Given the description of an element on the screen output the (x, y) to click on. 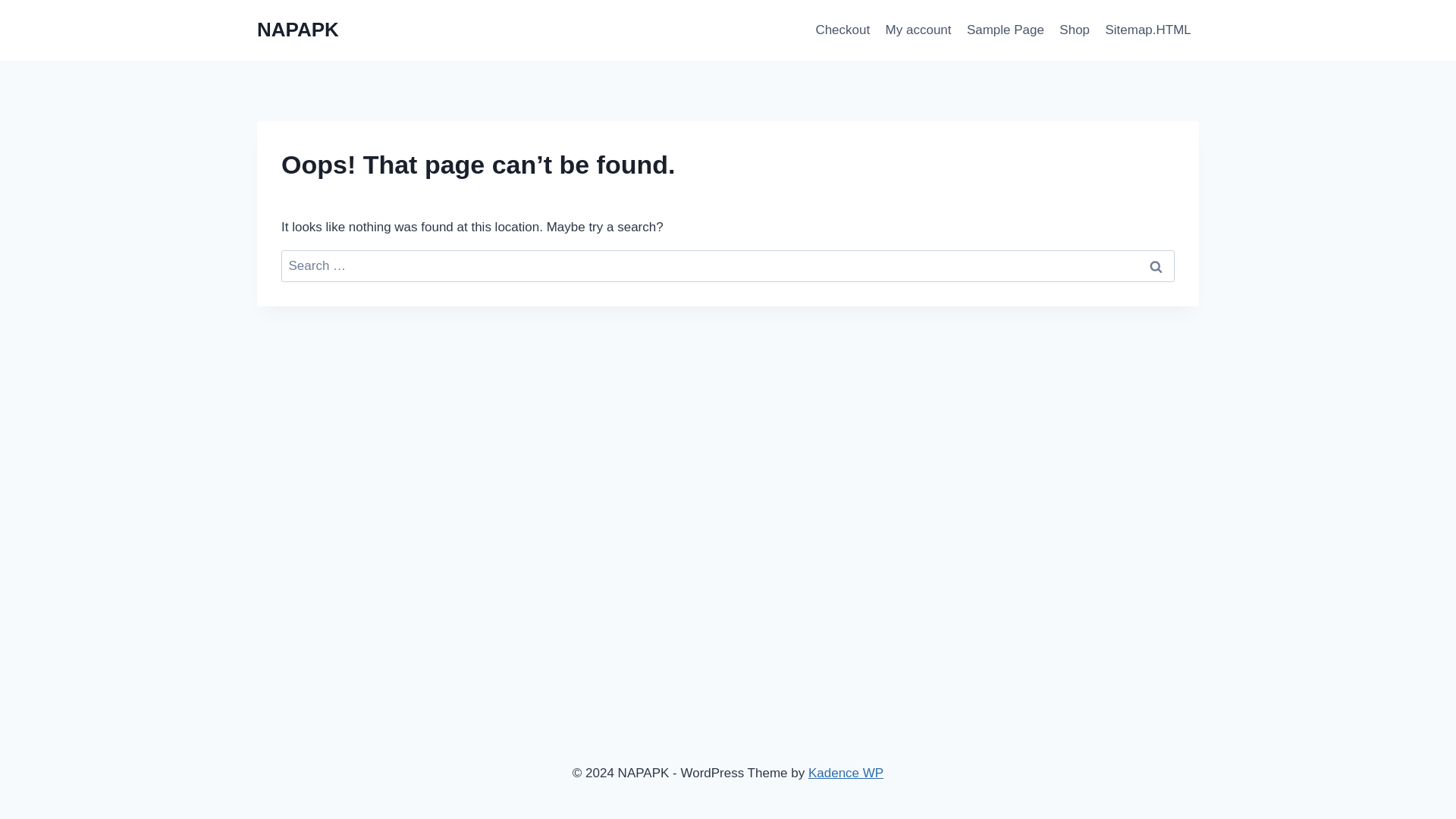
Search (1155, 266)
Kadence WP (845, 772)
Search (1155, 266)
Search (1155, 266)
My account (917, 30)
Sample Page (1005, 30)
Shop (1074, 30)
NAPAPK (298, 29)
Sitemap.HTML (1147, 30)
Checkout (842, 30)
